Given the description of an element on the screen output the (x, y) to click on. 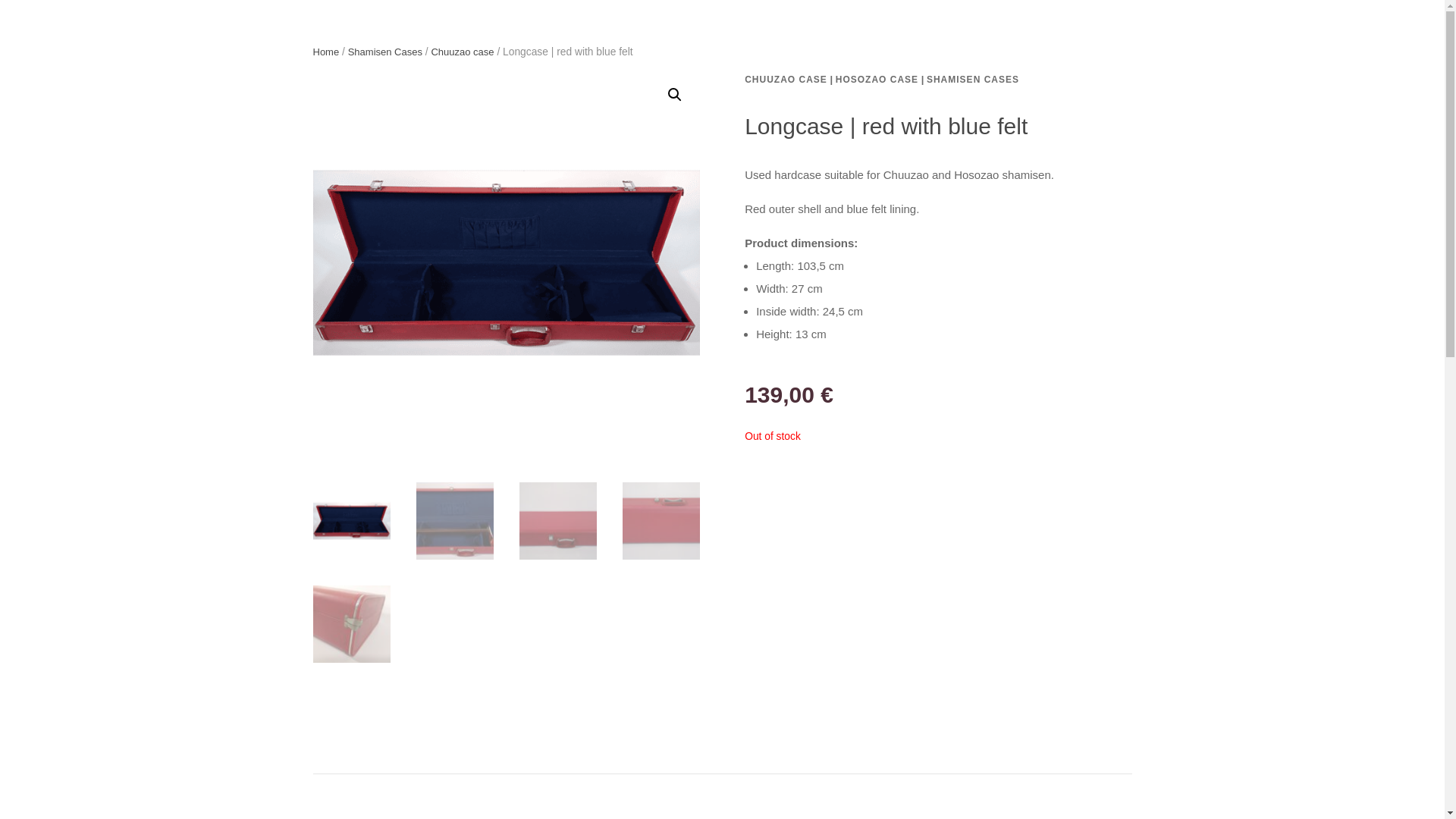
HOSOZAO CASE (876, 79)
Shamisen Cases (384, 51)
Page 1 (937, 263)
Home (326, 51)
Chuuzao case (461, 51)
SHAMISEN CASES (972, 79)
CHUUZAO CASE (785, 79)
